Given the description of an element on the screen output the (x, y) to click on. 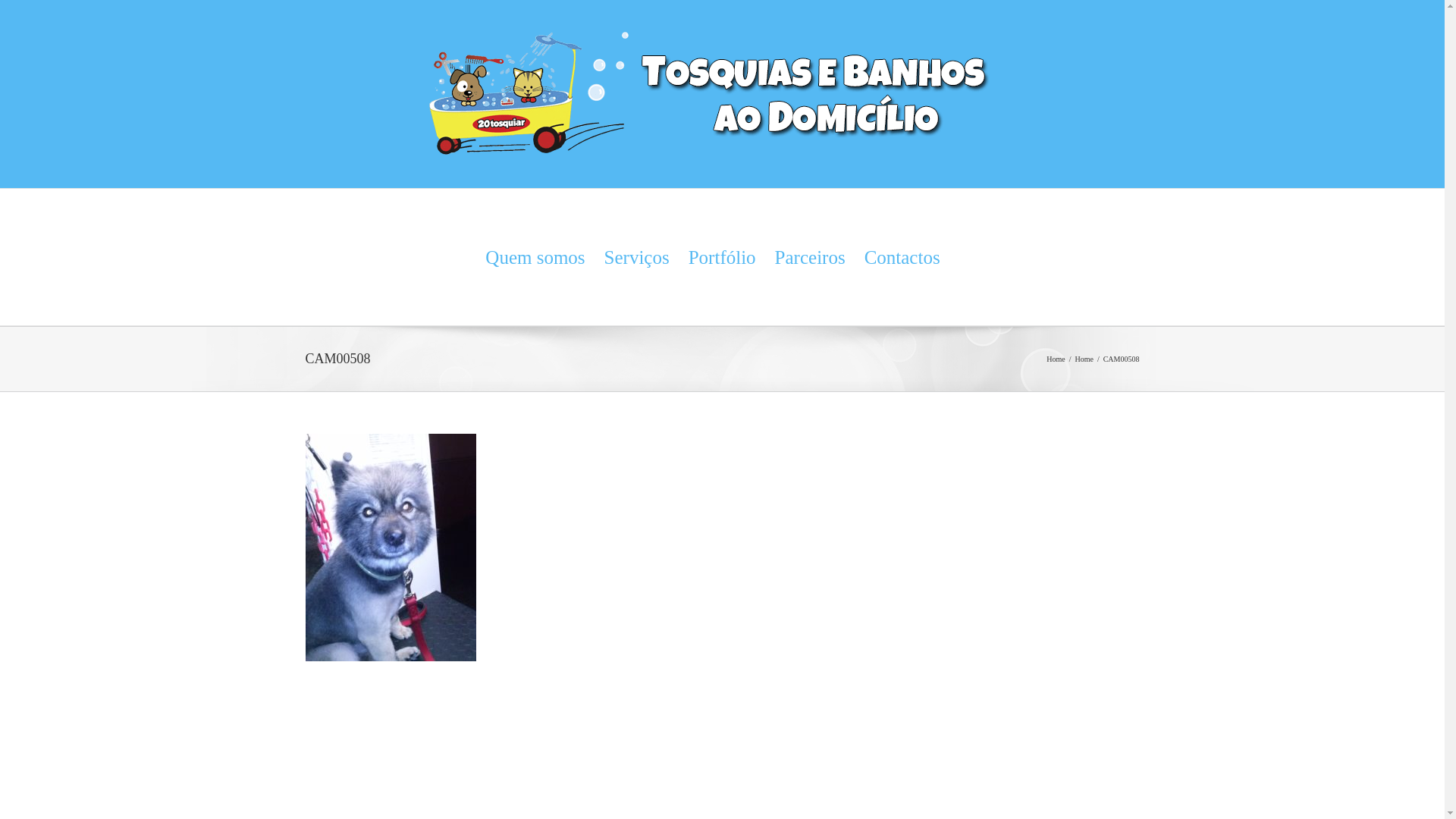
Home Element type: text (1083, 358)
Contactos Element type: text (902, 256)
Home Element type: text (1055, 358)
Quem somos Element type: text (534, 256)
Parceiros Element type: text (810, 256)
